Given the description of an element on the screen output the (x, y) to click on. 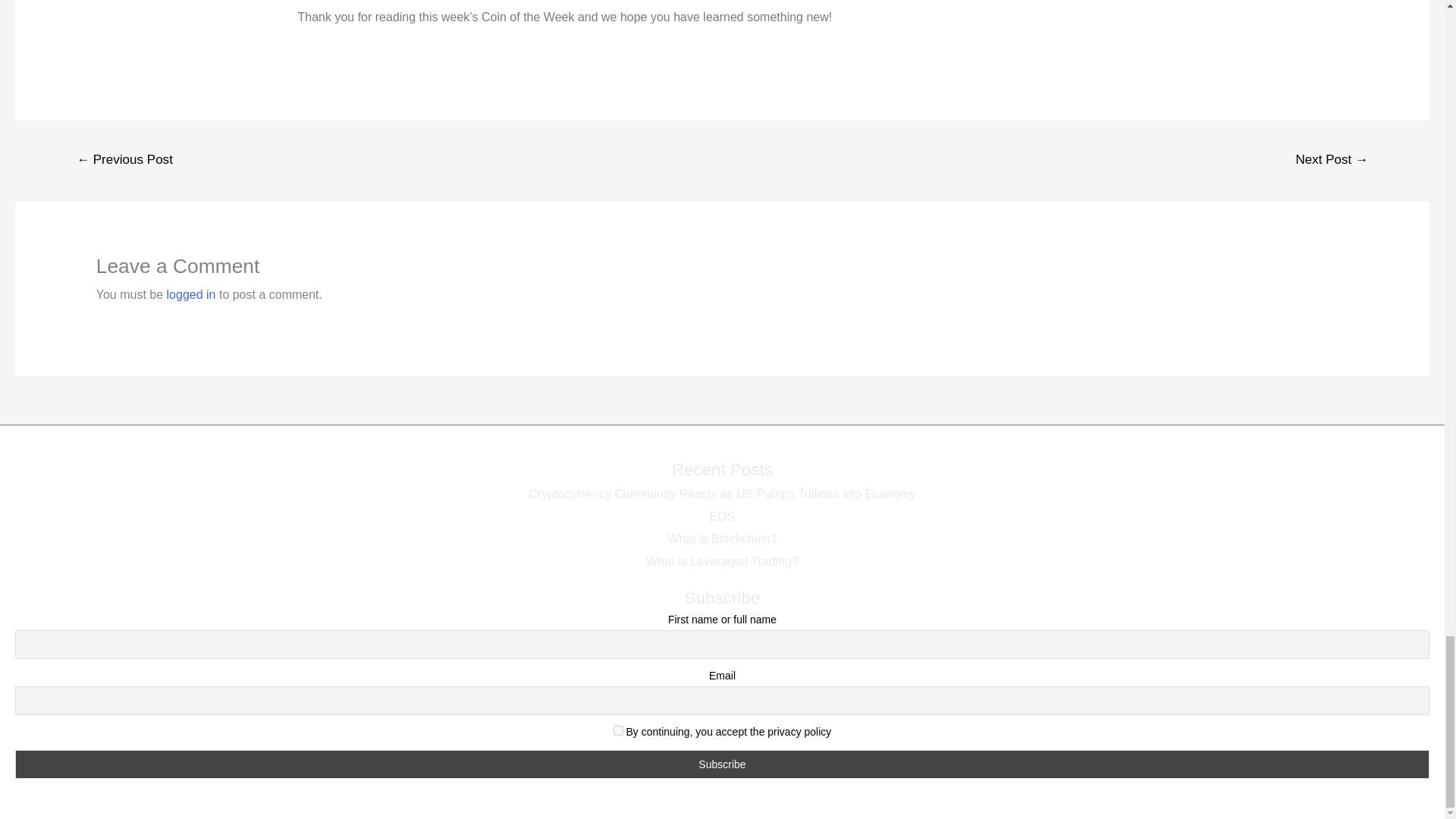
Subscribe (721, 764)
on (617, 730)
What is Blockchain? (721, 538)
What Is Leveraged Trading? (721, 561)
logged in (191, 294)
EOS (722, 516)
Subscribe (721, 764)
